Given the description of an element on the screen output the (x, y) to click on. 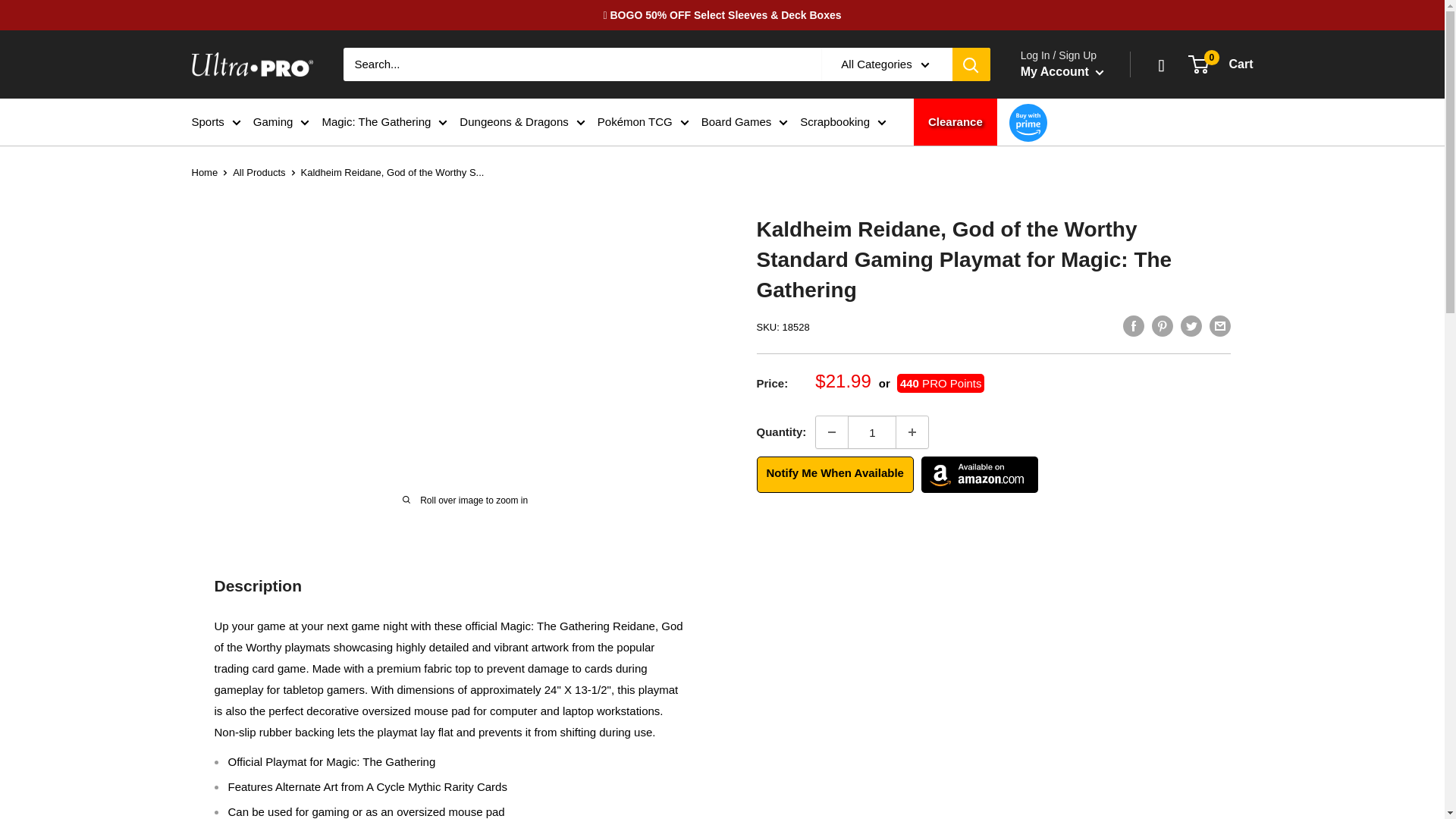
Decrease quantity by 1 (831, 431)
1 (871, 431)
Increase quantity by 1 (912, 431)
